Given the description of an element on the screen output the (x, y) to click on. 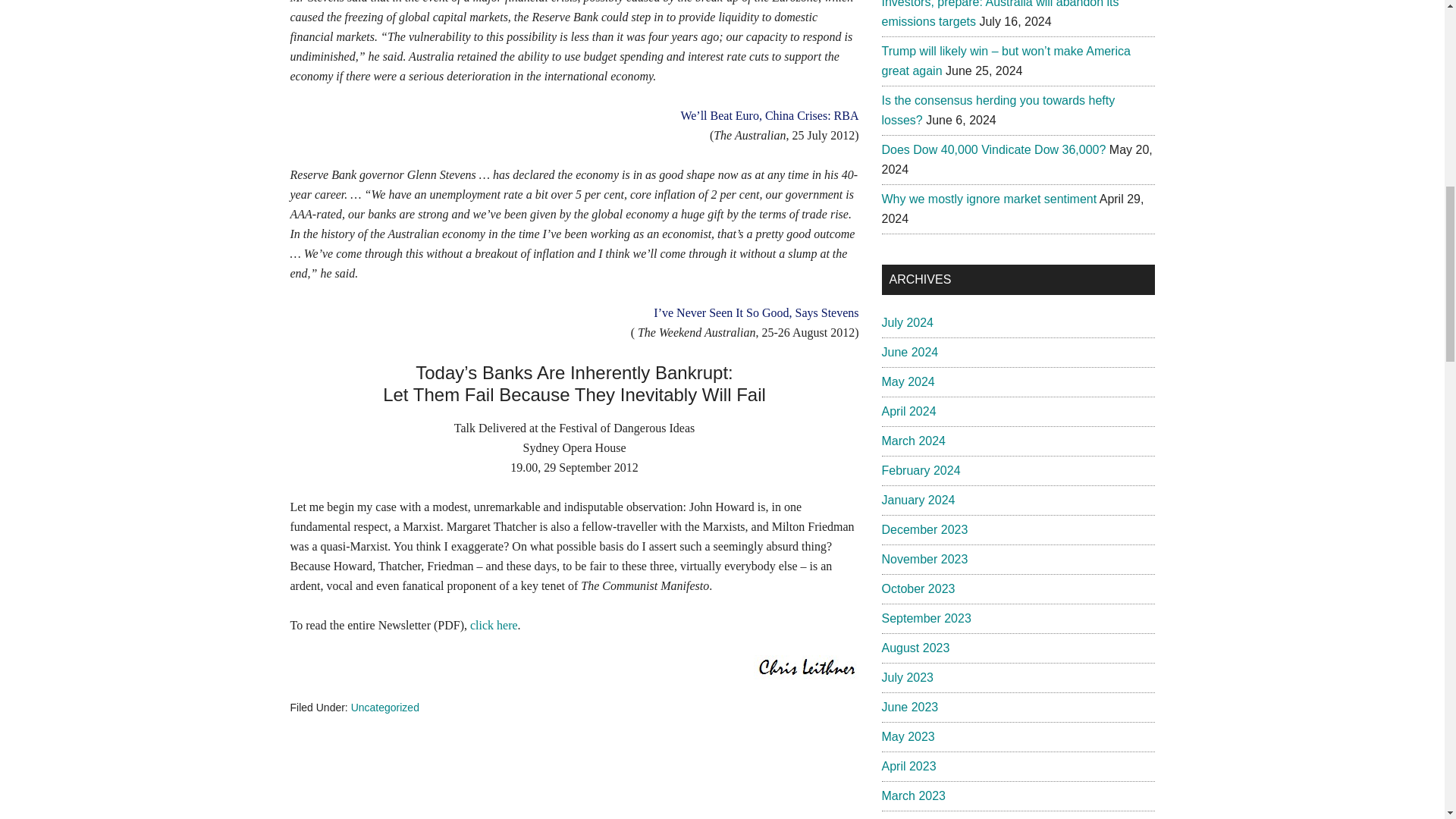
December 2023 (924, 529)
January 2024 (917, 499)
June 2024 (908, 351)
September 2023 (925, 617)
August 2023 (914, 647)
Is the consensus herding you towards hefty losses? (997, 110)
November 2023 (924, 558)
July 2023 (906, 676)
October 2023 (917, 588)
Why we mostly ignore market sentiment (988, 198)
Does Dow 40,000 Vindicate Dow 36,000? (992, 149)
March 2024 (912, 440)
May 2024 (907, 381)
Uncategorized (384, 707)
